Given the description of an element on the screen output the (x, y) to click on. 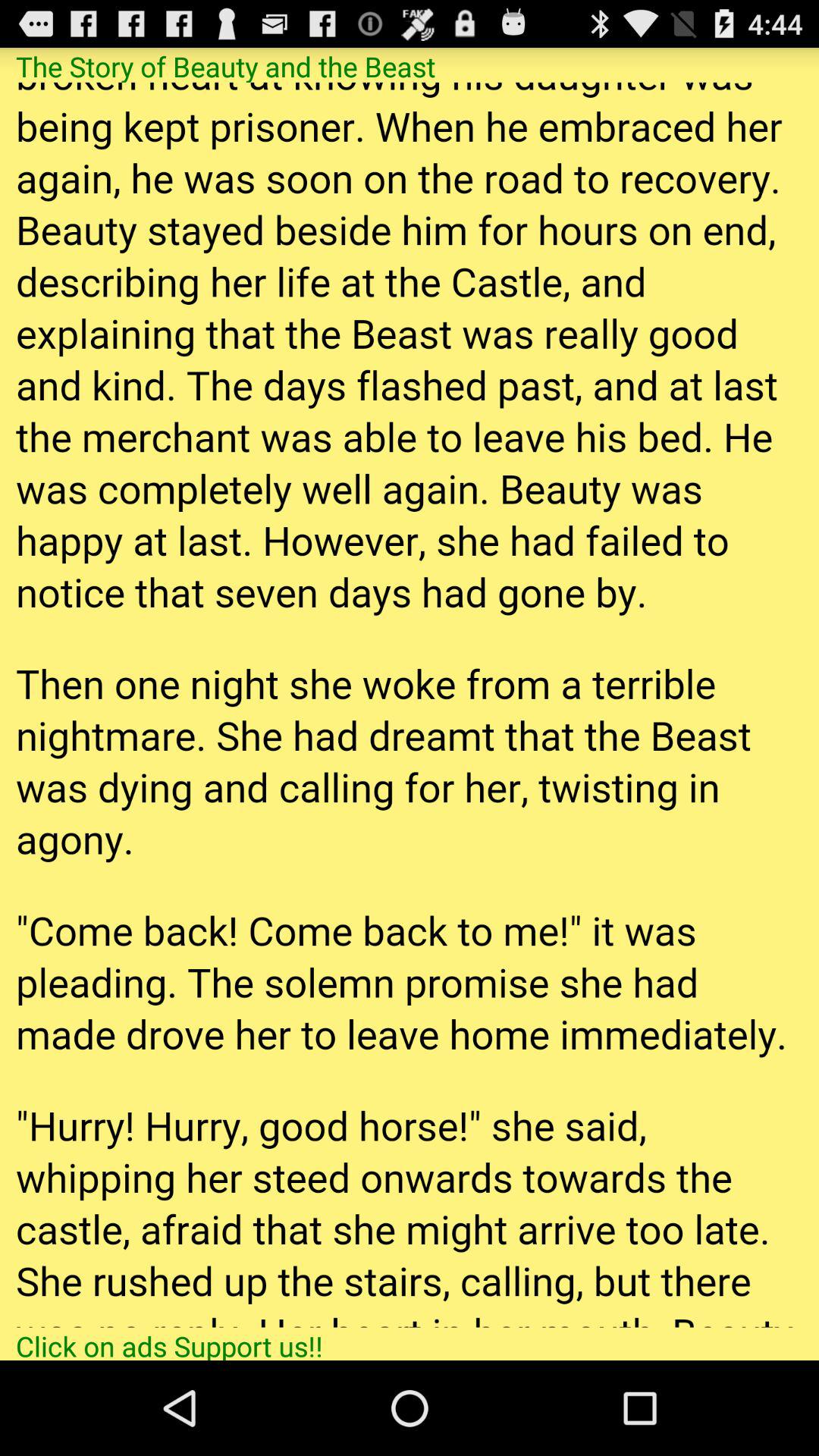
advertisement page (409, 704)
